Given the description of an element on the screen output the (x, y) to click on. 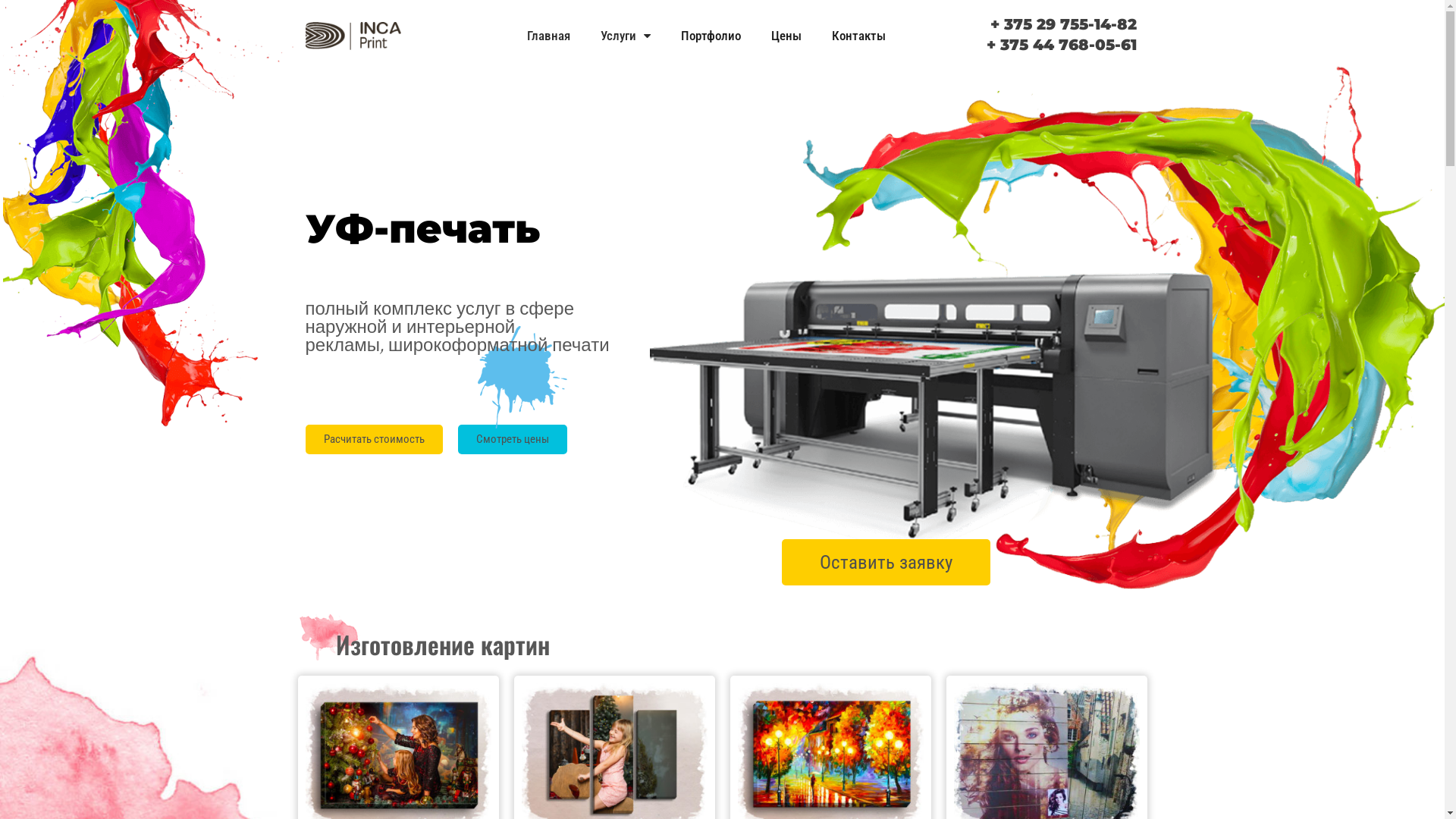
+ 375 44 768-05-61 Element type: text (1061, 44)
+ 375 29 755-14-82 Element type: text (1063, 23)
